Given the description of an element on the screen output the (x, y) to click on. 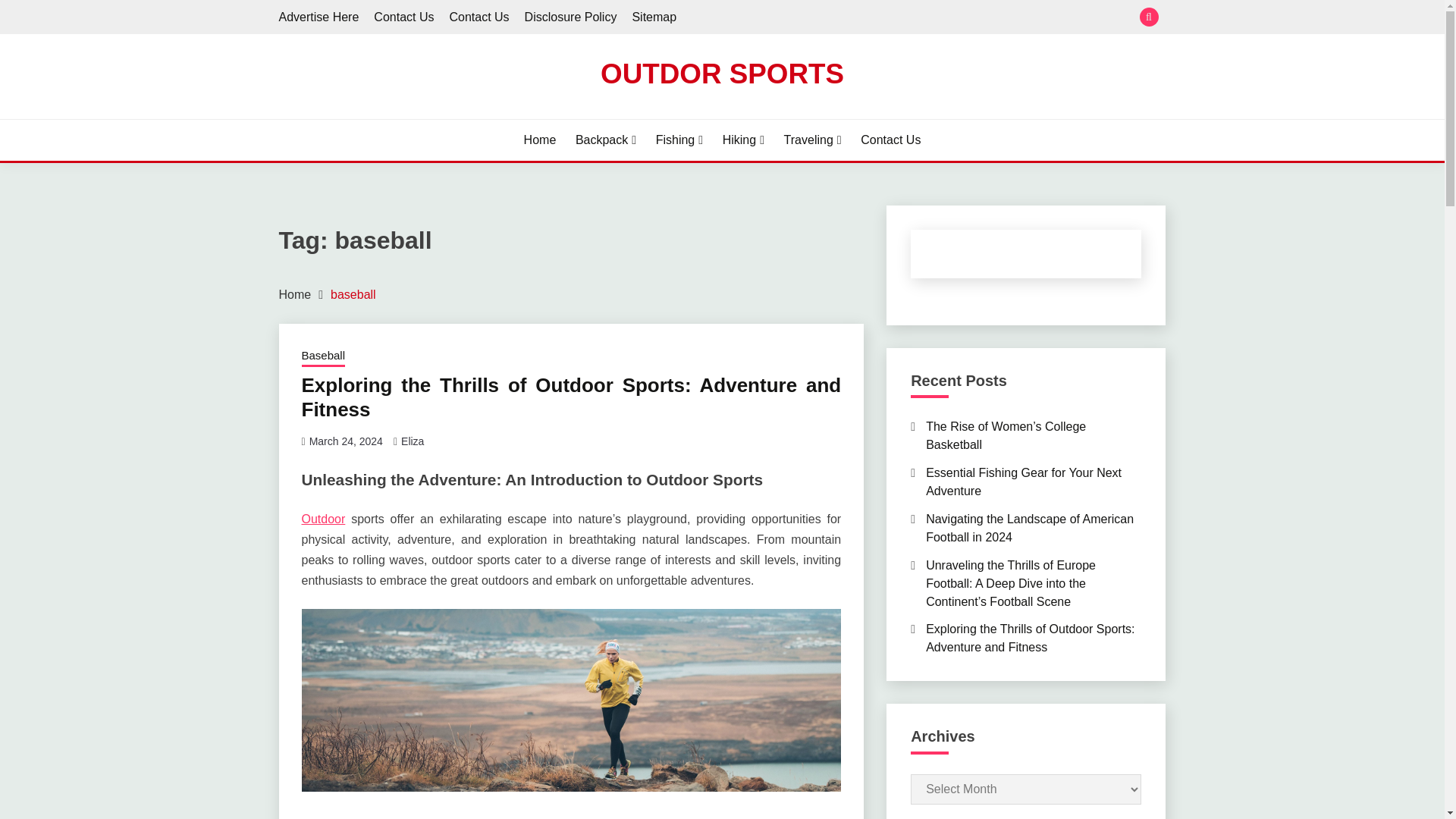
March 24, 2024 (345, 440)
Home (295, 294)
Sitemap (654, 16)
Search (832, 18)
Traveling (812, 140)
Contact Us (478, 16)
Hiking (743, 140)
Fishing (679, 140)
Home (540, 140)
